Given the description of an element on the screen output the (x, y) to click on. 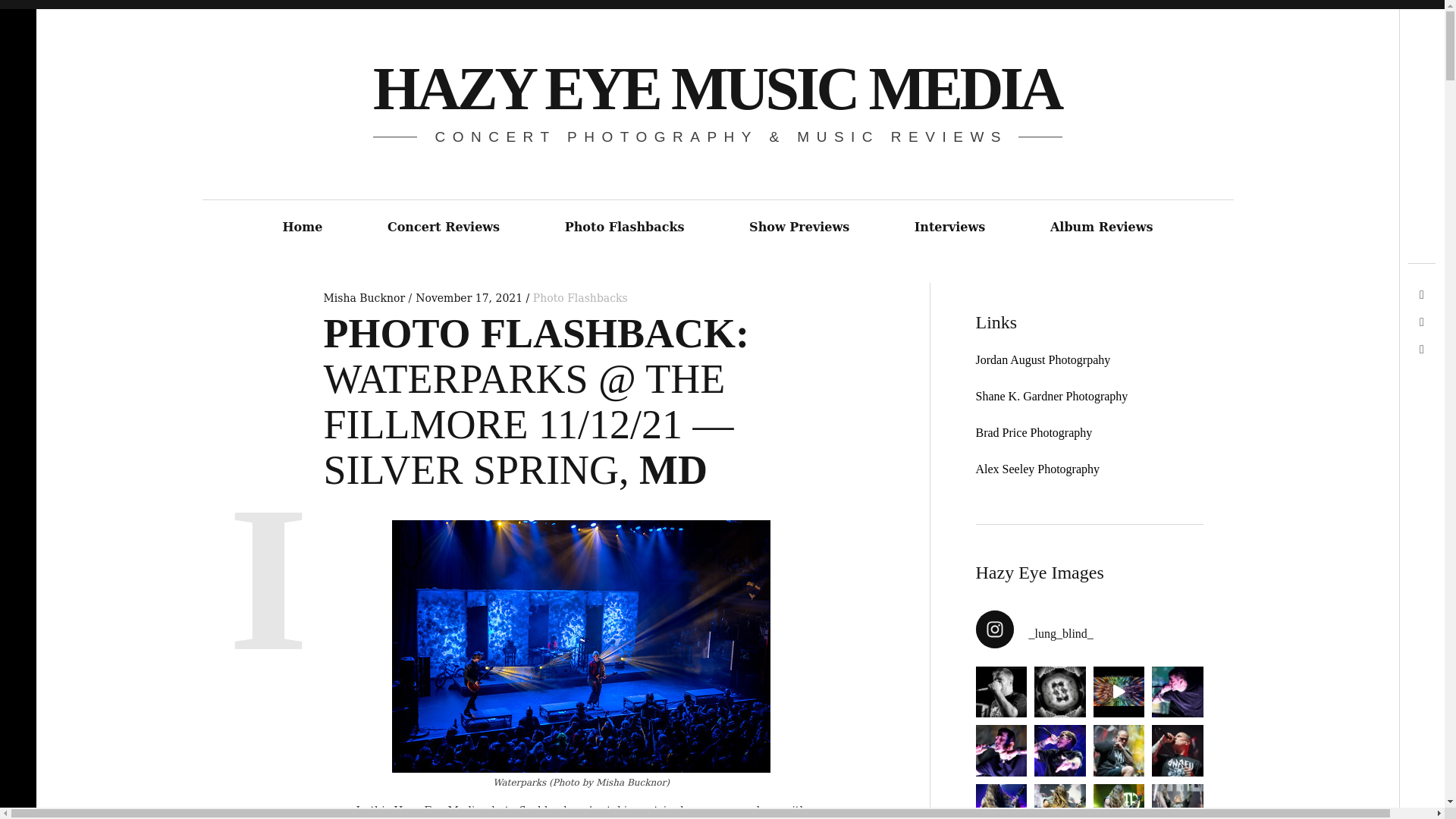
Interviews (948, 227)
HAZY EYE MUSIC MEDIA (716, 88)
November 17, 2021 (468, 297)
Show Previews (799, 227)
Concert Reviews (442, 227)
Misha Bucknor (365, 297)
Photo Flashbacks (624, 227)
Home (301, 227)
Album Reviews (1101, 227)
Photo Flashbacks (579, 297)
